Given the description of an element on the screen output the (x, y) to click on. 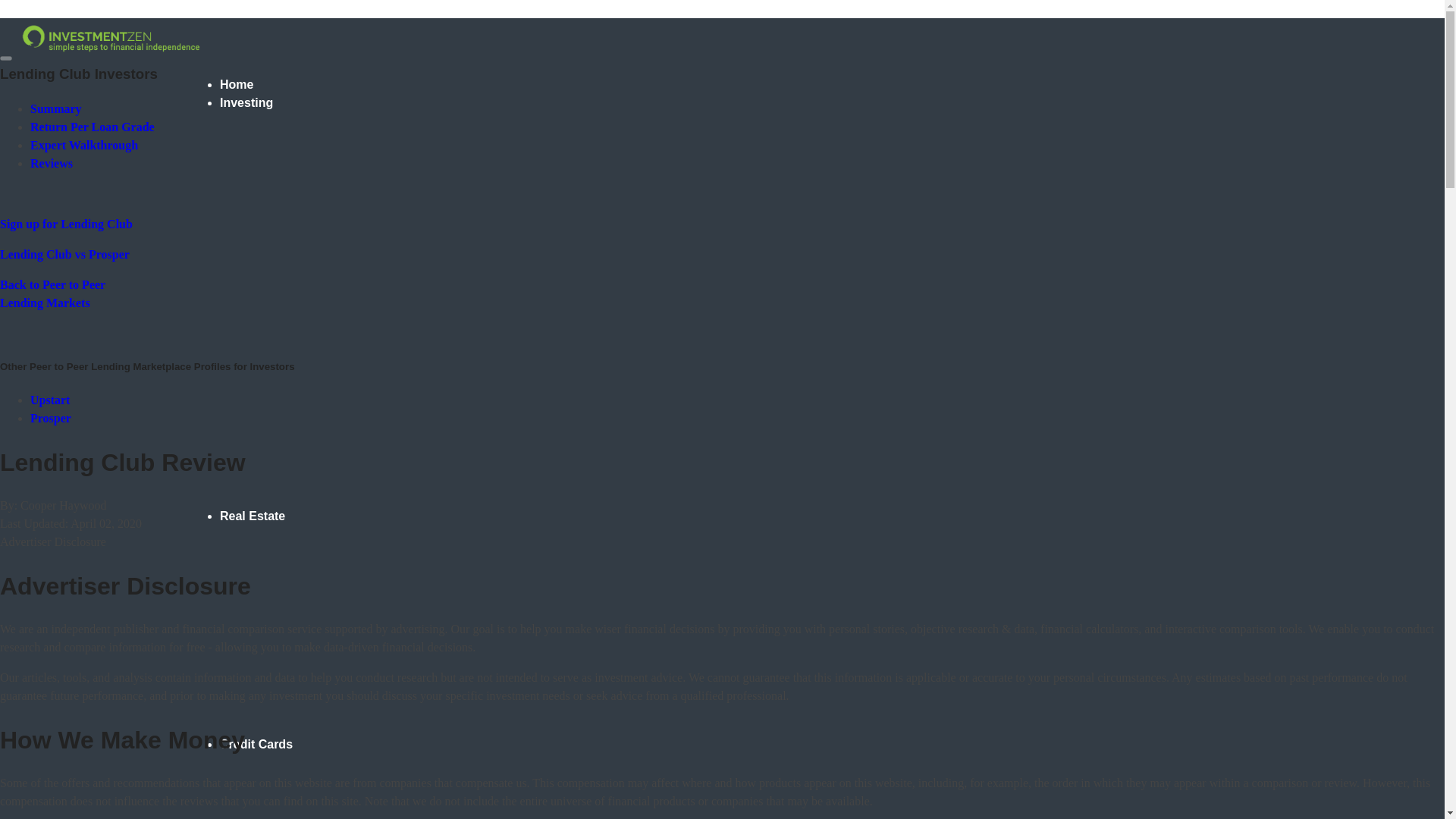
Home (236, 83)
Investing (246, 102)
Real Estate (252, 515)
